Given the description of an element on the screen output the (x, y) to click on. 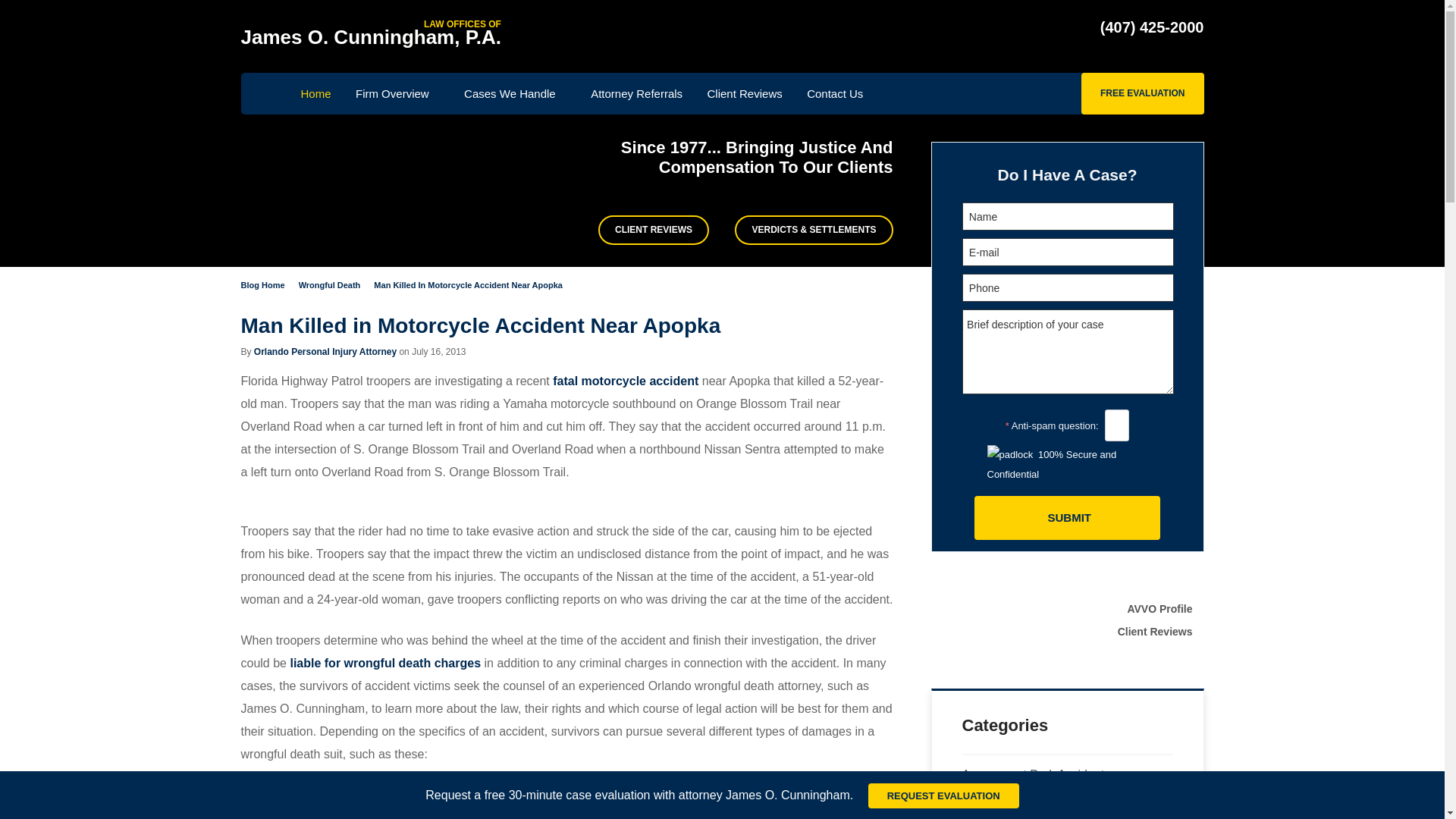
Home (370, 36)
CLIENT REVIEWS (314, 93)
Name (653, 229)
Submit (1066, 216)
Attorney Referrals (1067, 517)
Firm Overview (636, 93)
E-mail (397, 93)
Contact Us (1066, 252)
Cases We Handle (834, 93)
